Given the description of an element on the screen output the (x, y) to click on. 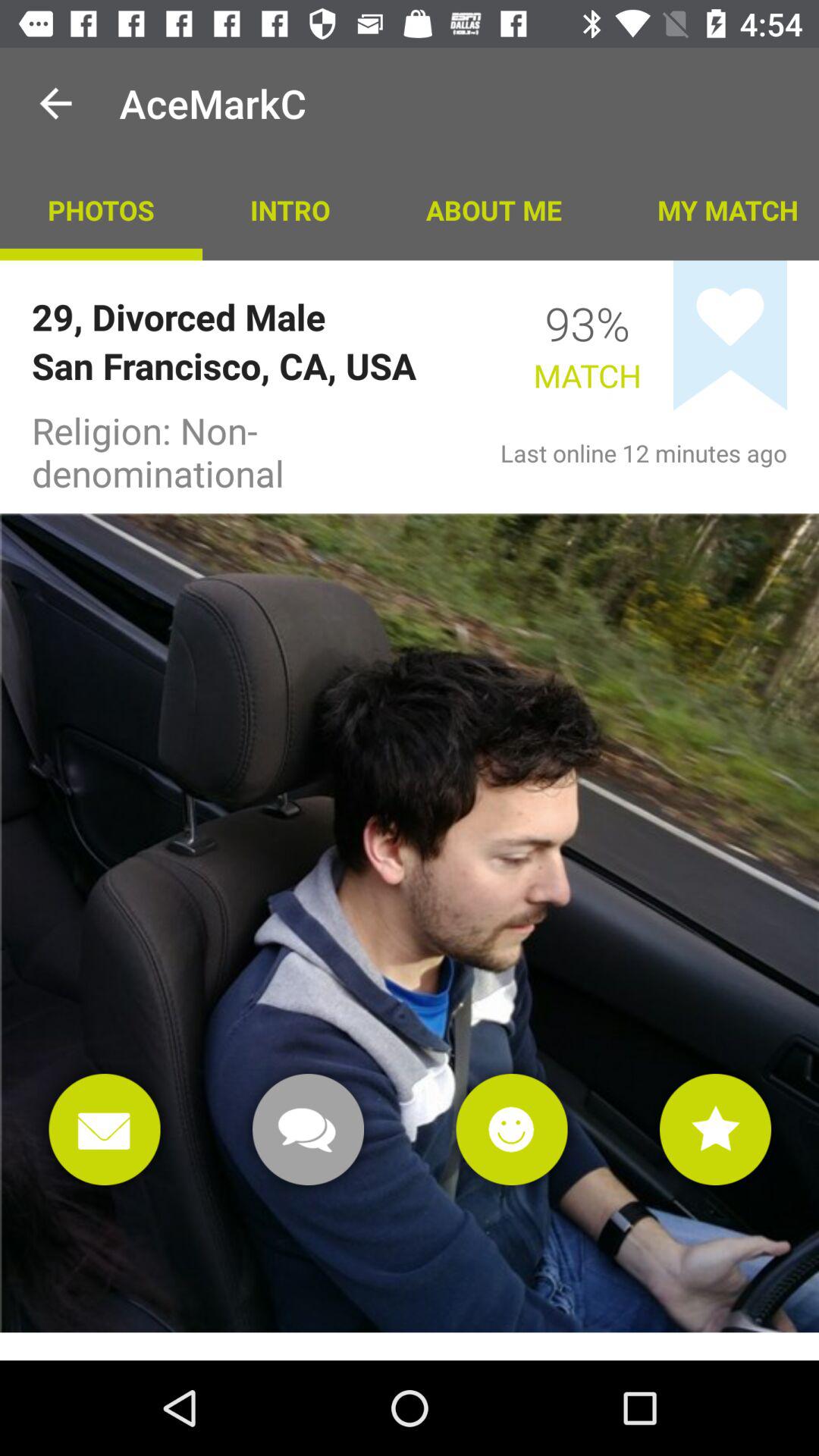
tap icon next to intro (493, 209)
